Given the description of an element on the screen output the (x, y) to click on. 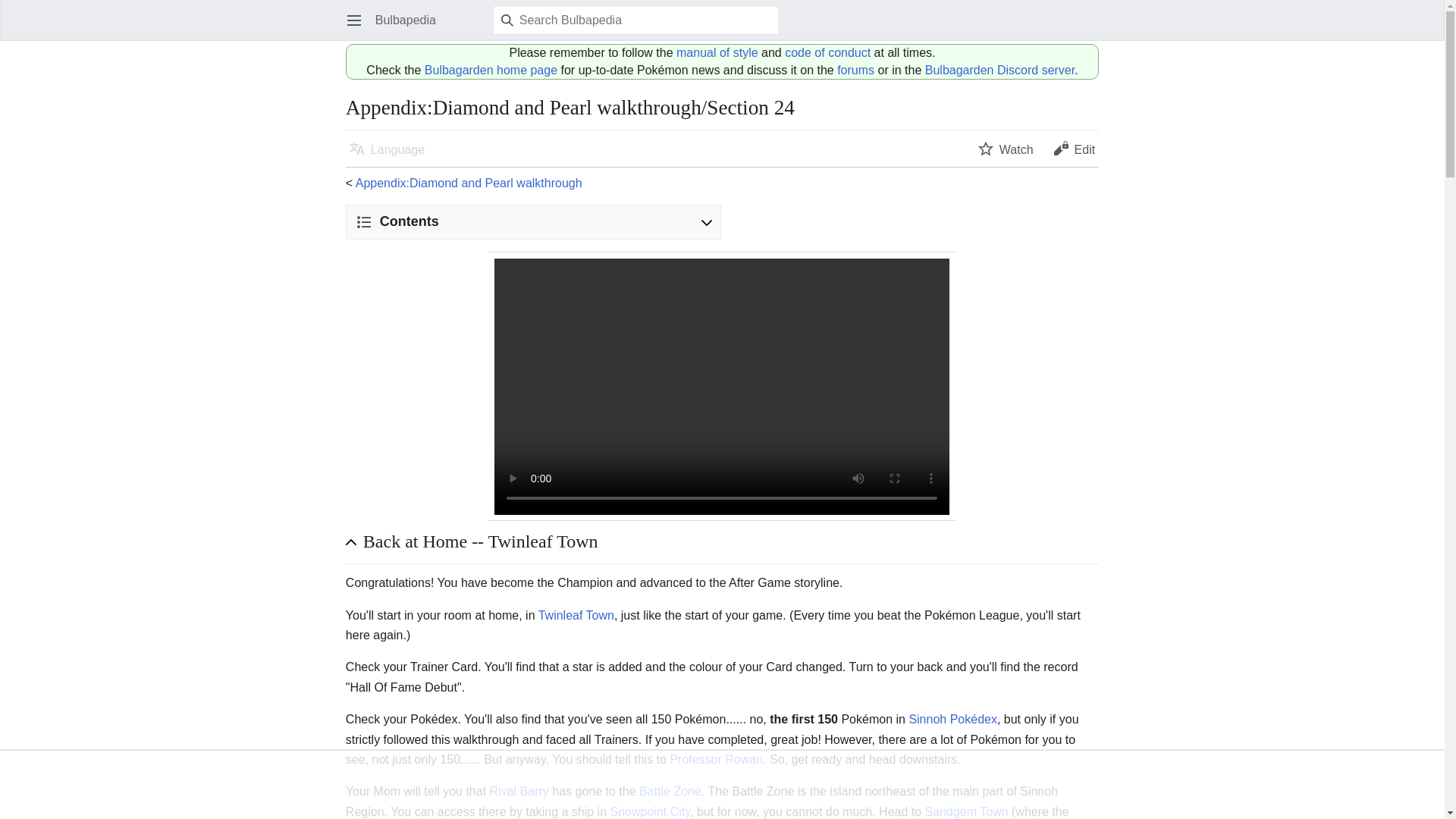
code of conduct (827, 51)
Professor Rowan (715, 758)
Edit (1074, 148)
Sandgem Town (966, 811)
Edit the lead section of this page (1074, 148)
Watch (1005, 148)
Twinleaf Town (576, 615)
Bulbapedia:Code of conduct (827, 51)
Snowpoint City (650, 811)
Battle Zone (670, 790)
Bulbagarden Discord server (999, 69)
Bulbagarden home page (491, 69)
manual of style (717, 51)
Barry (533, 790)
forums (856, 69)
